Given the description of an element on the screen output the (x, y) to click on. 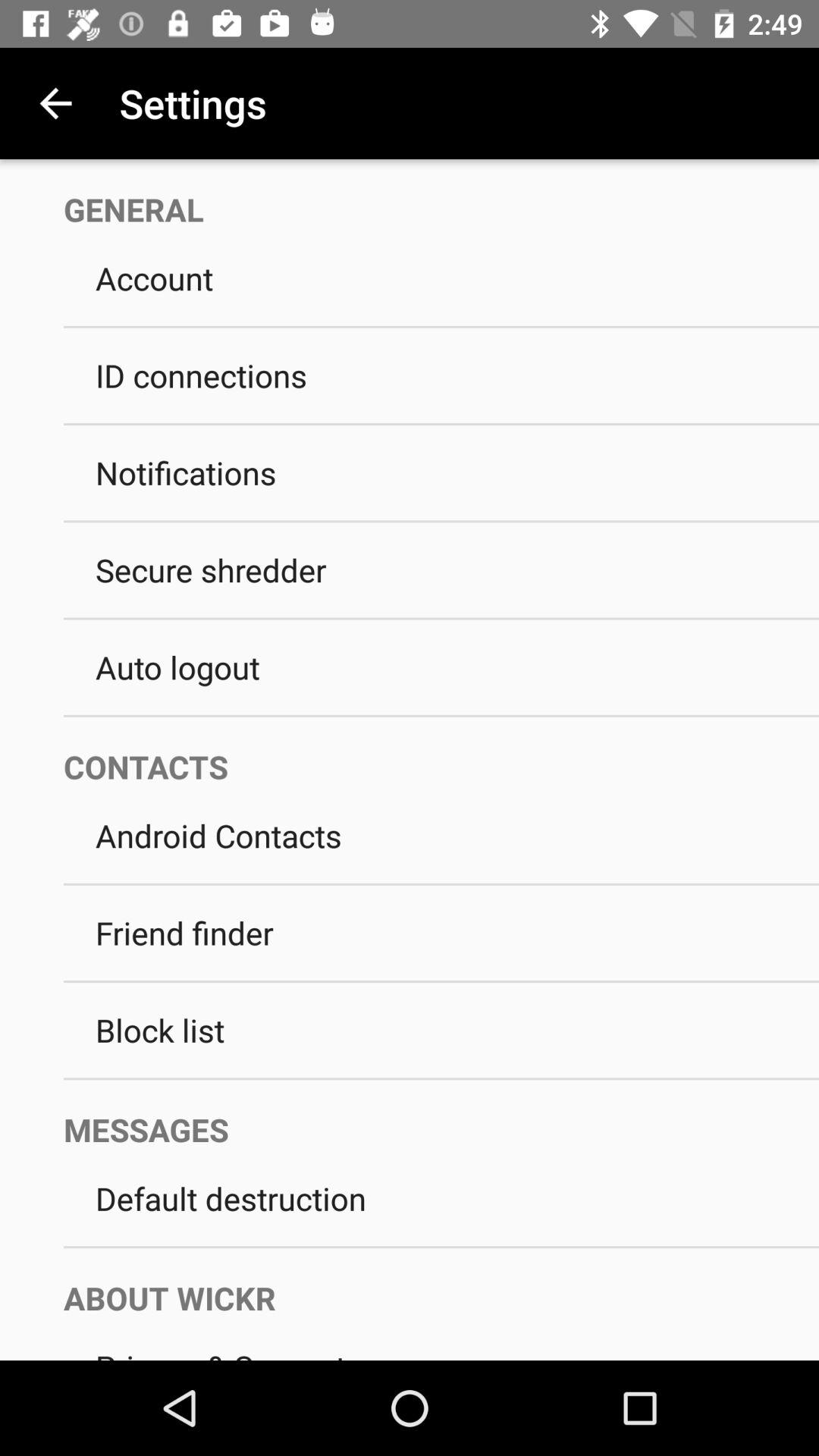
turn off item below the general item (441, 277)
